Given the description of an element on the screen output the (x, y) to click on. 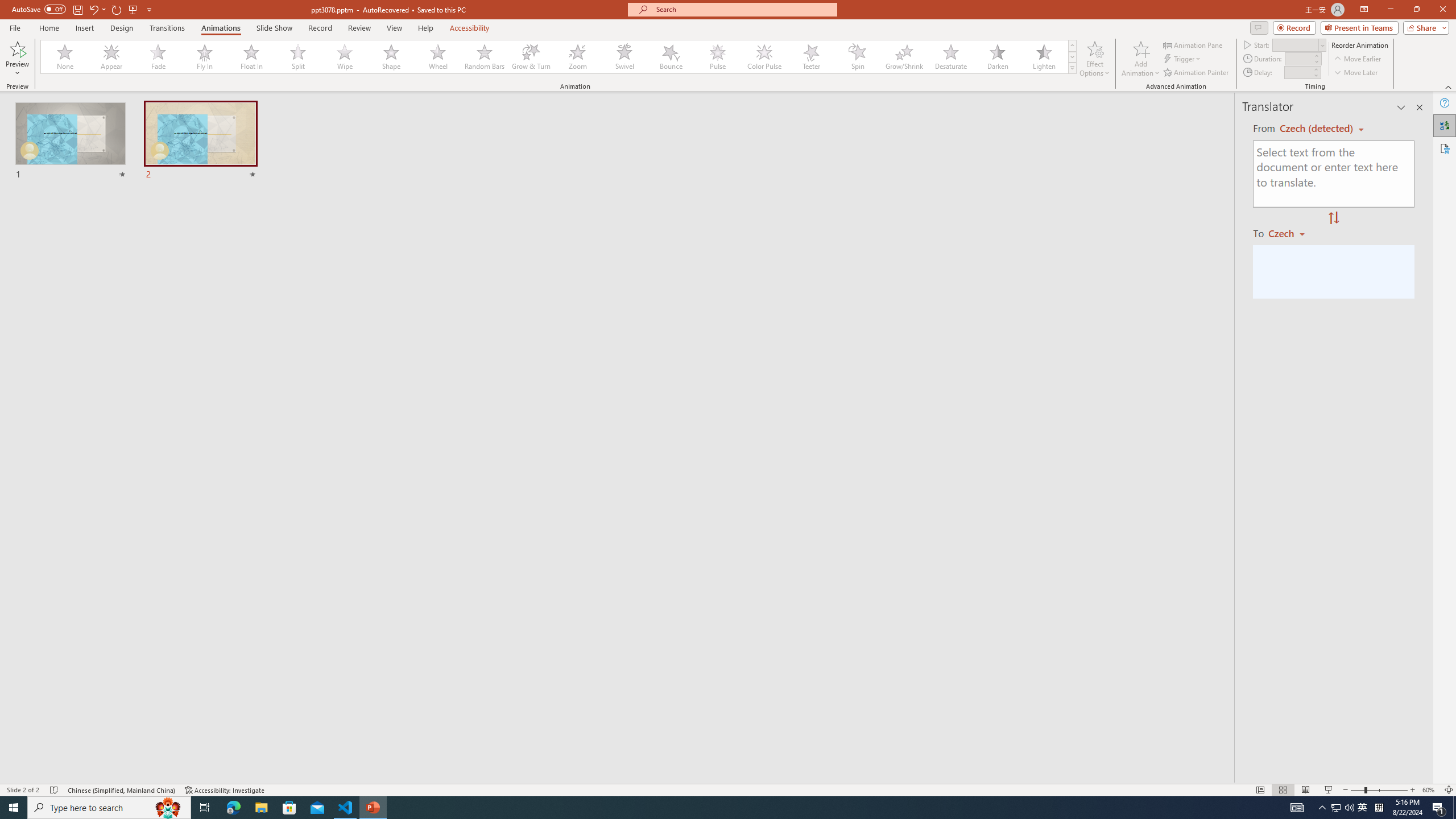
Animation Styles (1071, 67)
Wheel (437, 56)
Fly In (205, 56)
Wipe (344, 56)
Move Later (1355, 72)
Grow & Turn (531, 56)
None (65, 56)
